Given the description of an element on the screen output the (x, y) to click on. 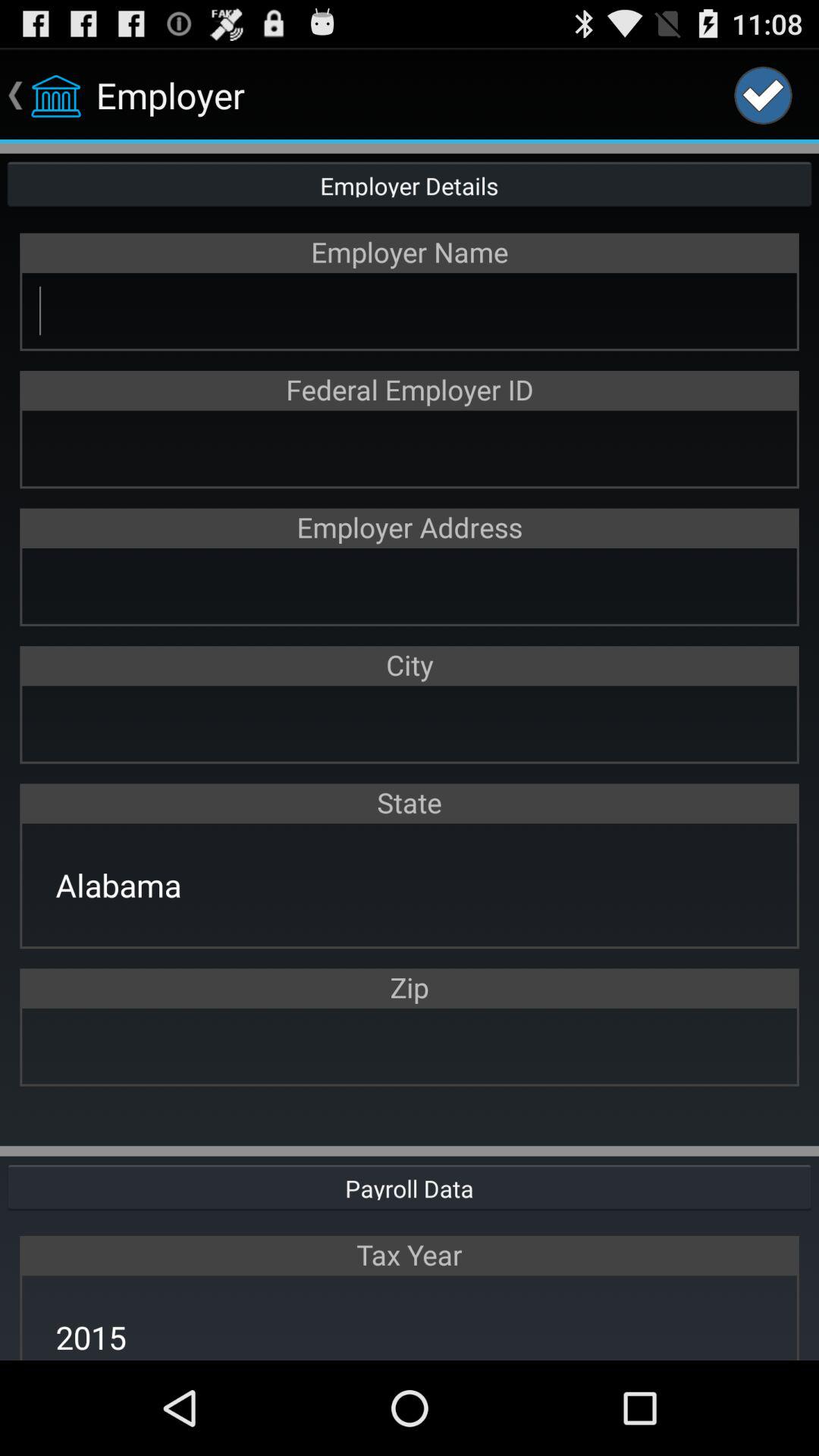
launch employer details icon (409, 183)
